Given the description of an element on the screen output the (x, y) to click on. 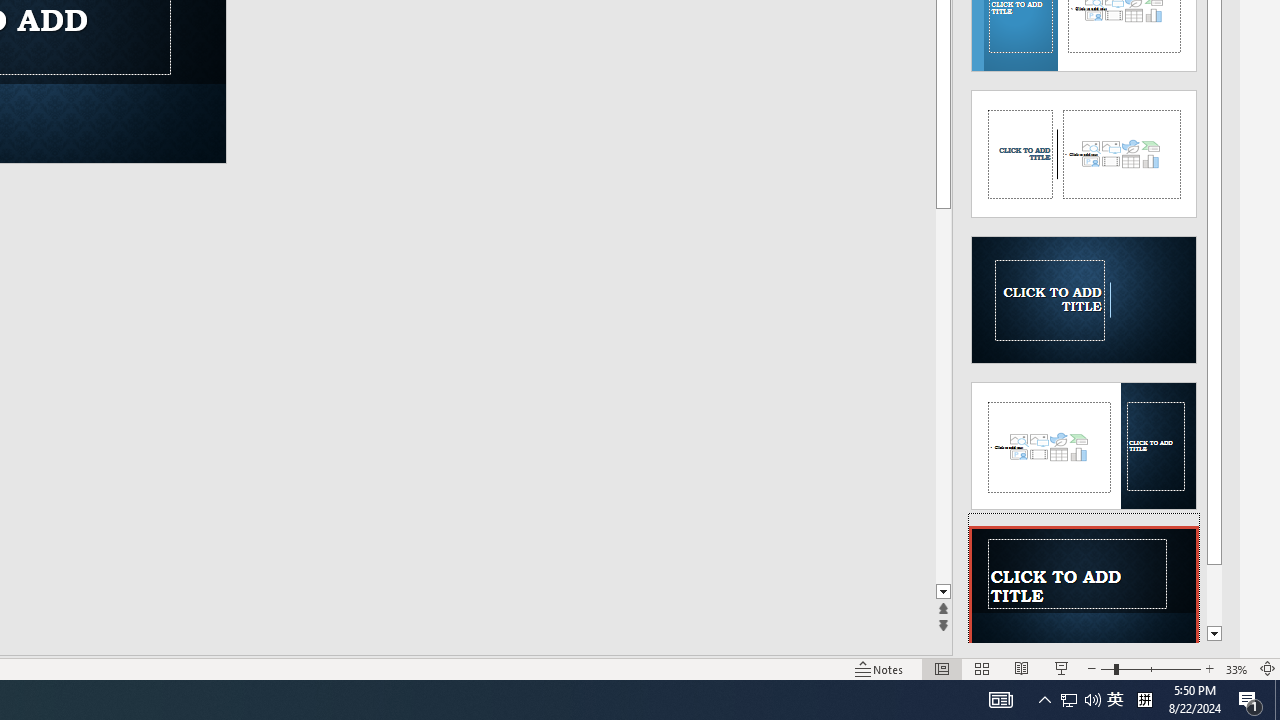
Zoom 33% (1236, 668)
